Given the description of an element on the screen output the (x, y) to click on. 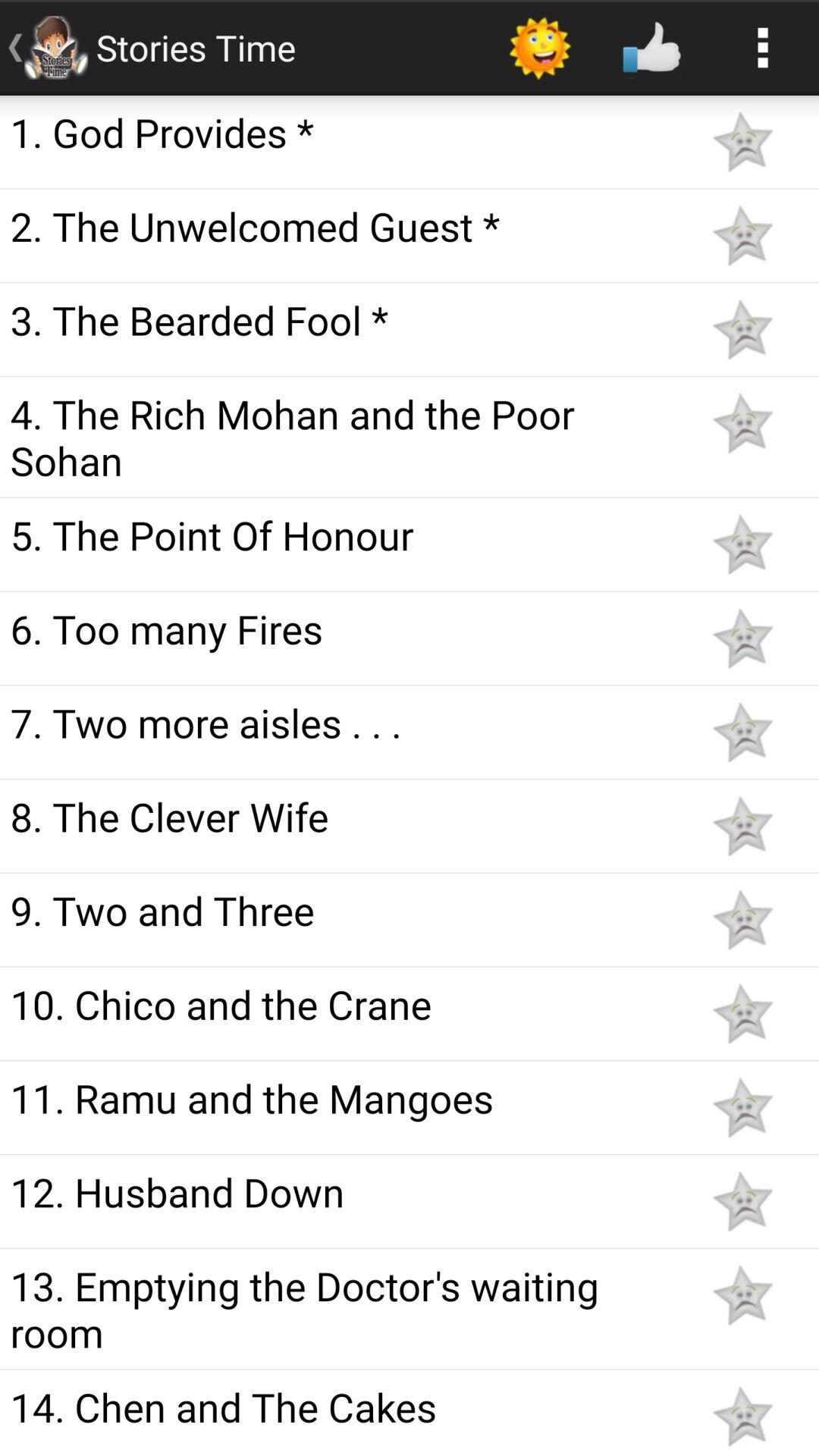
turn on night mode (742, 1295)
